Given the description of an element on the screen output the (x, y) to click on. 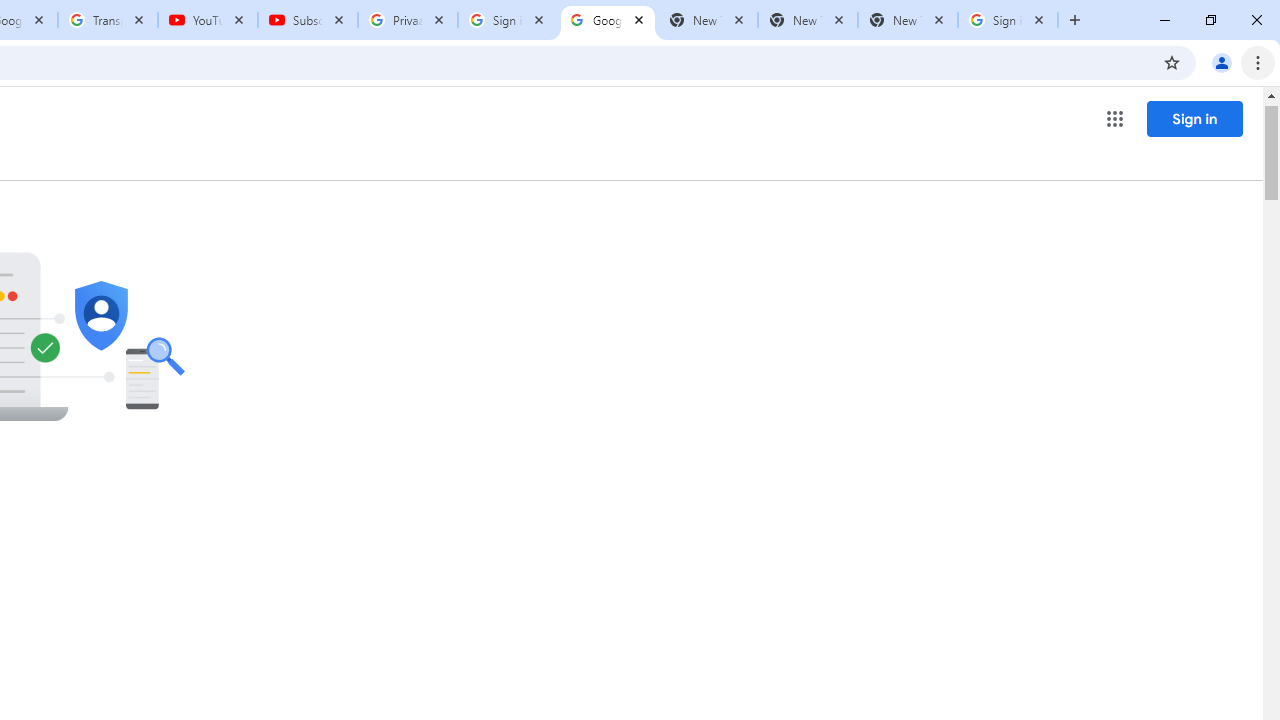
Subscriptions - YouTube (308, 20)
Sign in - Google Accounts (1007, 20)
New Tab (907, 20)
Sign in - Google Accounts (508, 20)
